Given the description of an element on the screen output the (x, y) to click on. 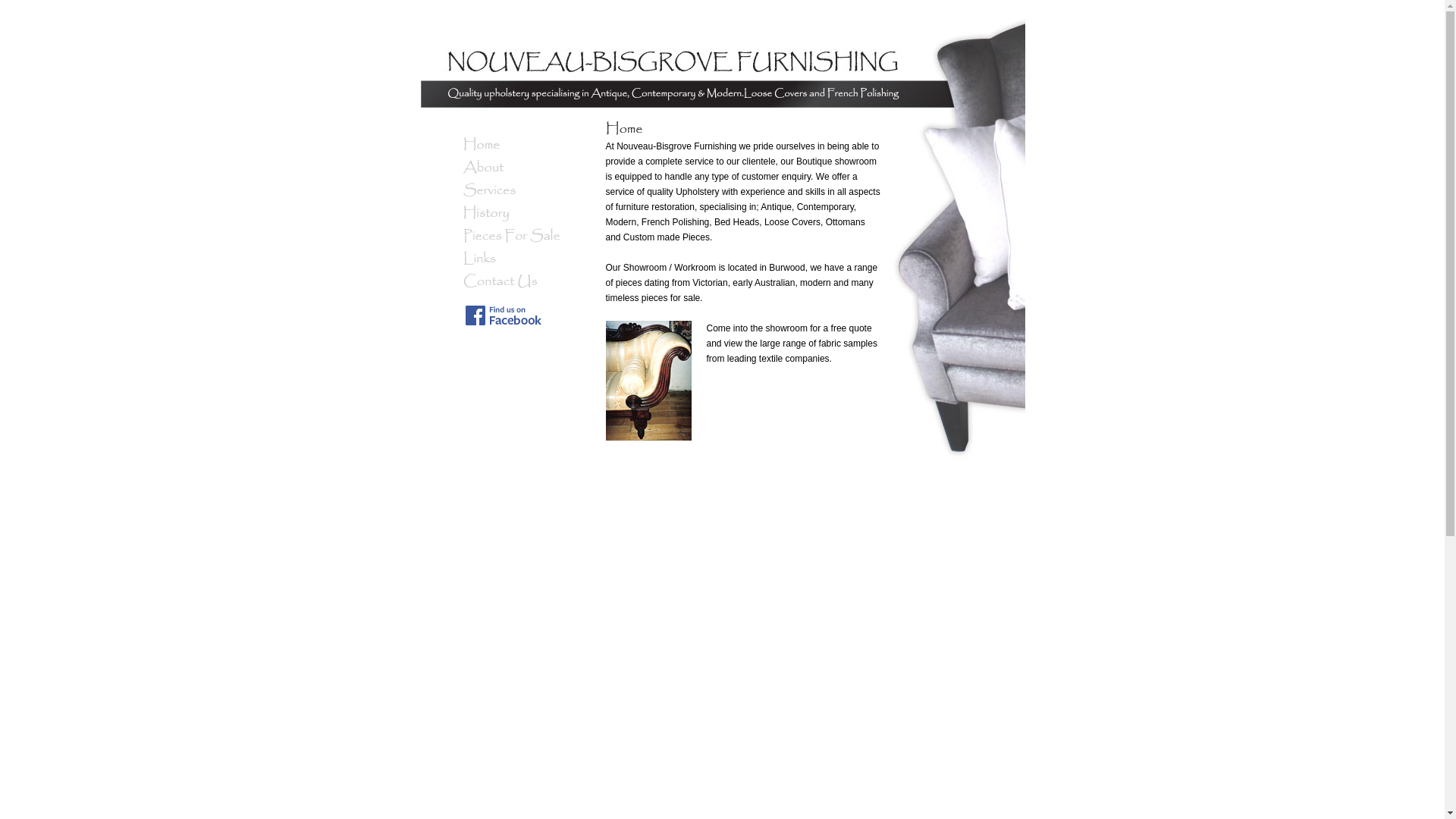
Links Element type: hover (518, 259)
Pieces For Sale Element type: hover (518, 236)
Contacts Element type: hover (518, 282)
Home Element type: hover (518, 145)
Services Element type: hover (518, 191)
About Element type: hover (518, 168)
History Element type: hover (518, 214)
